Given the description of an element on the screen output the (x, y) to click on. 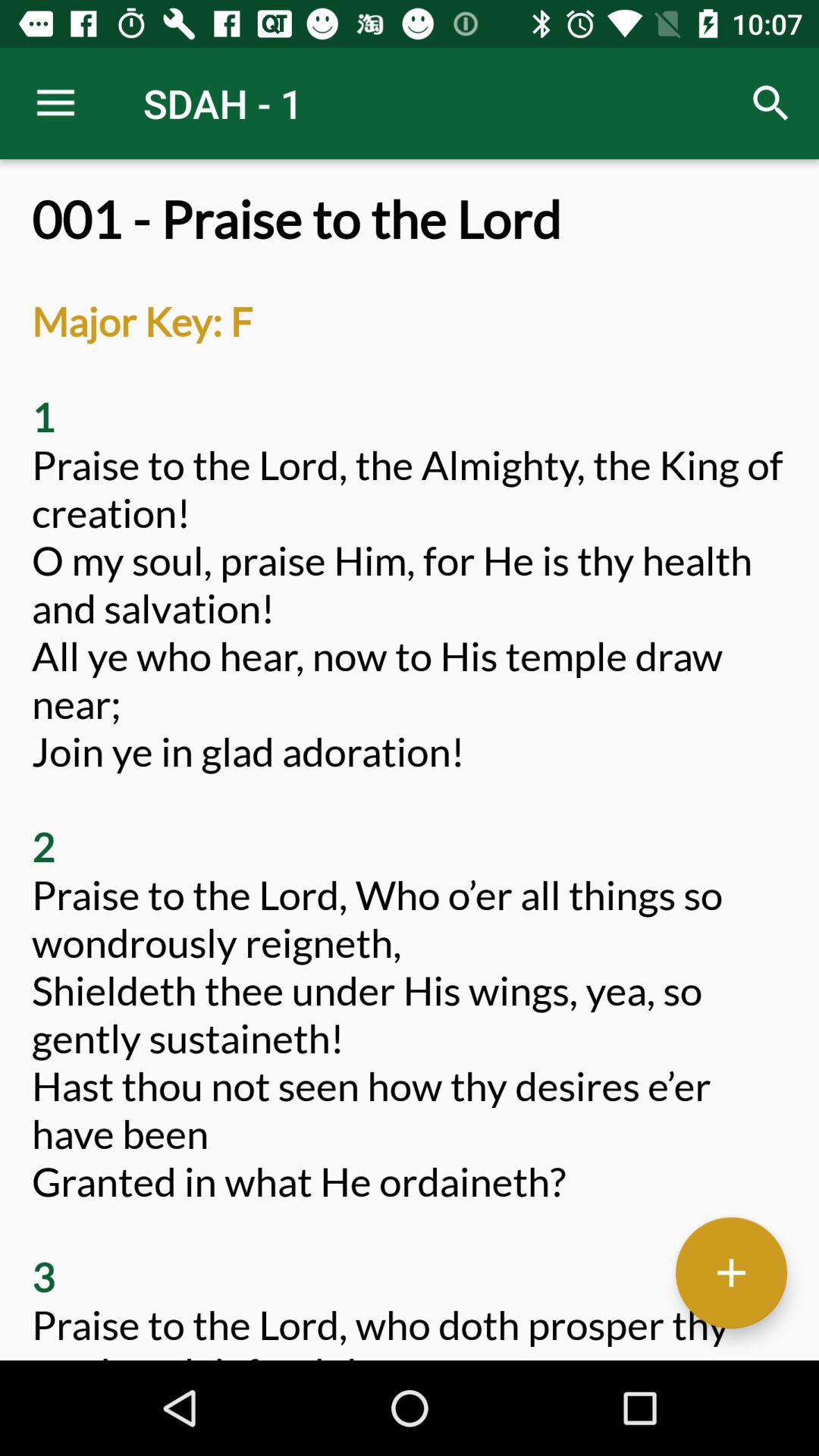
open 001 praise to item (409, 775)
